Given the description of an element on the screen output the (x, y) to click on. 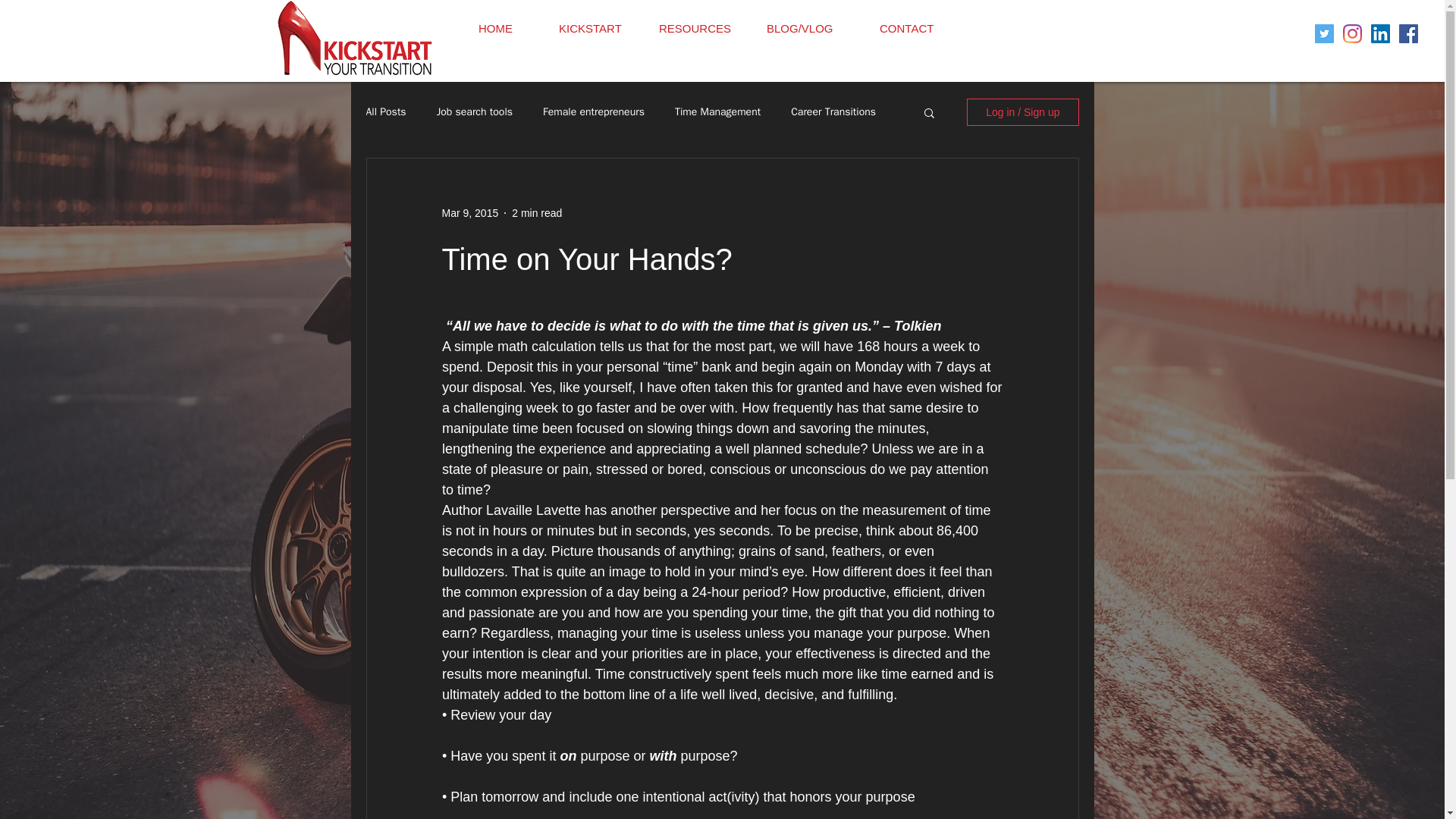
Mar 9, 2015 (469, 212)
2 min read (537, 212)
KICKSTART (596, 28)
HOME (507, 28)
Female entrepreneurs (594, 111)
All Posts (385, 111)
CONTACT (916, 28)
RESOURCES (700, 28)
Career Transitions (833, 111)
Time Management (717, 111)
